Given the description of an element on the screen output the (x, y) to click on. 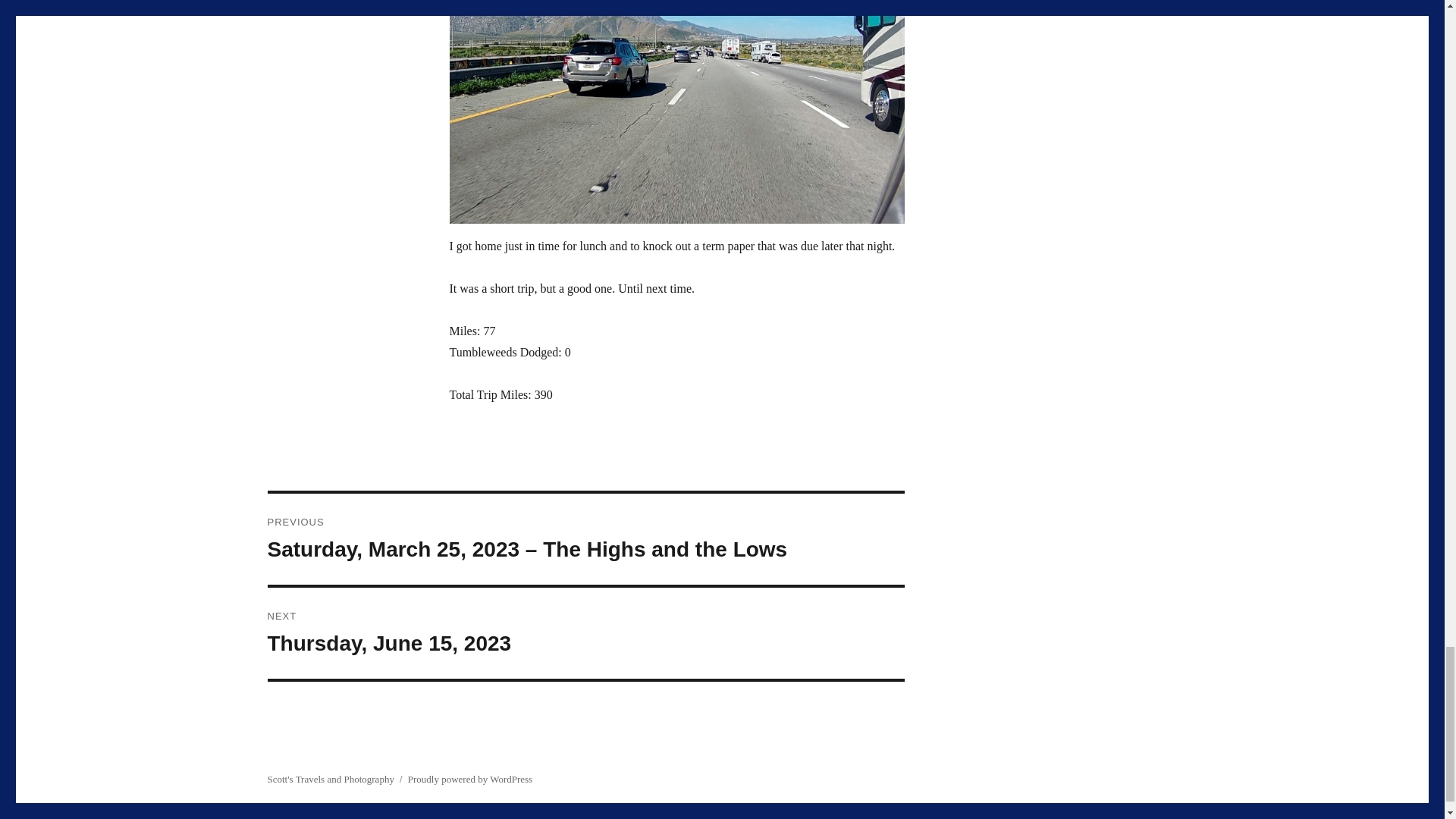
Scott's Travels and Photography (329, 778)
Proudly powered by WordPress (585, 633)
